Given the description of an element on the screen output the (x, y) to click on. 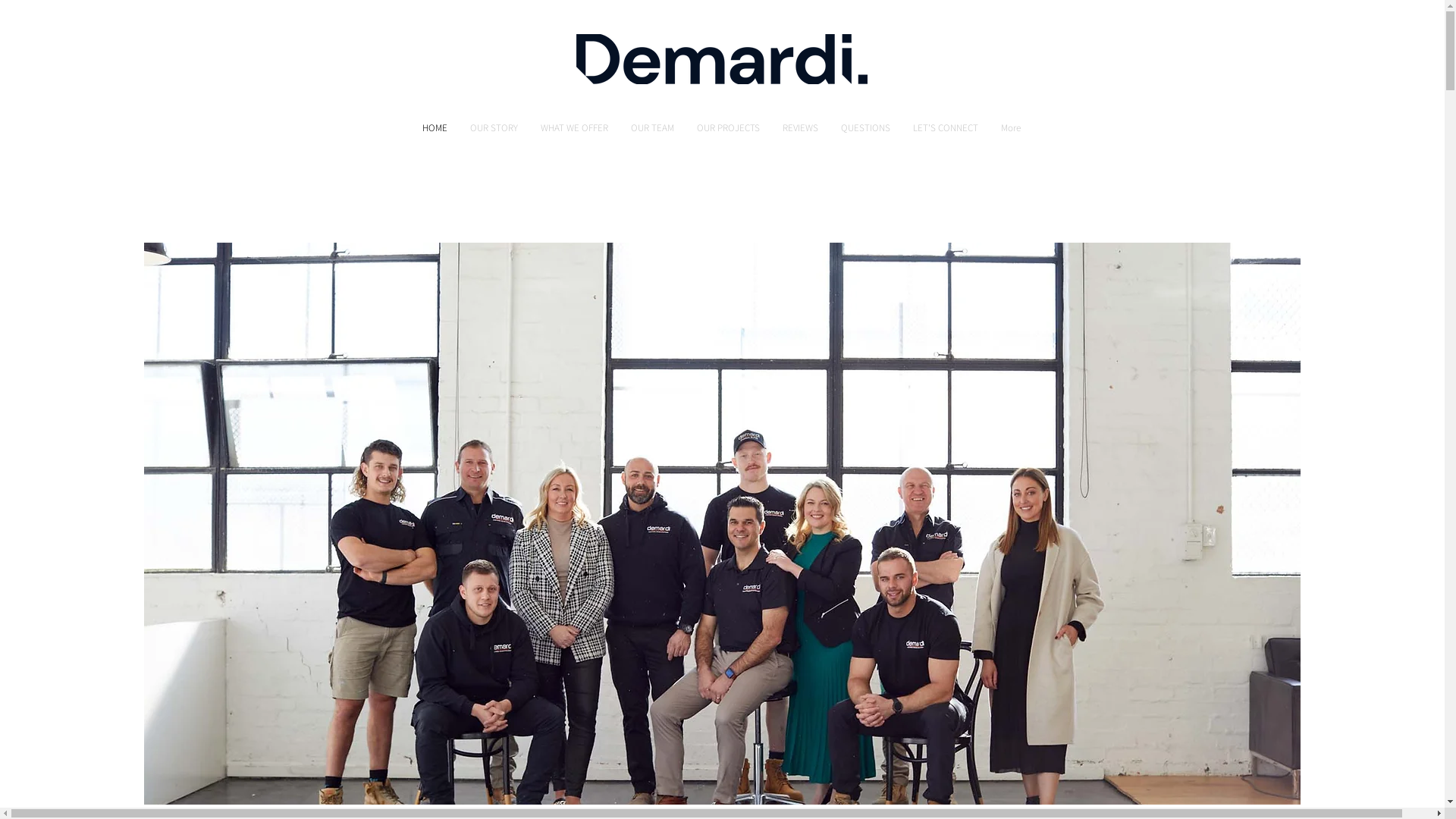
LET'S CONNECT Element type: text (944, 133)
HOME Element type: text (434, 133)
OUR STORY Element type: text (493, 133)
QUESTIONS Element type: text (865, 133)
OUR TEAM Element type: text (651, 133)
OUR PROJECTS Element type: text (728, 133)
WHAT WE OFFER Element type: text (574, 133)
REVIEWS Element type: text (799, 133)
